Given the description of an element on the screen output the (x, y) to click on. 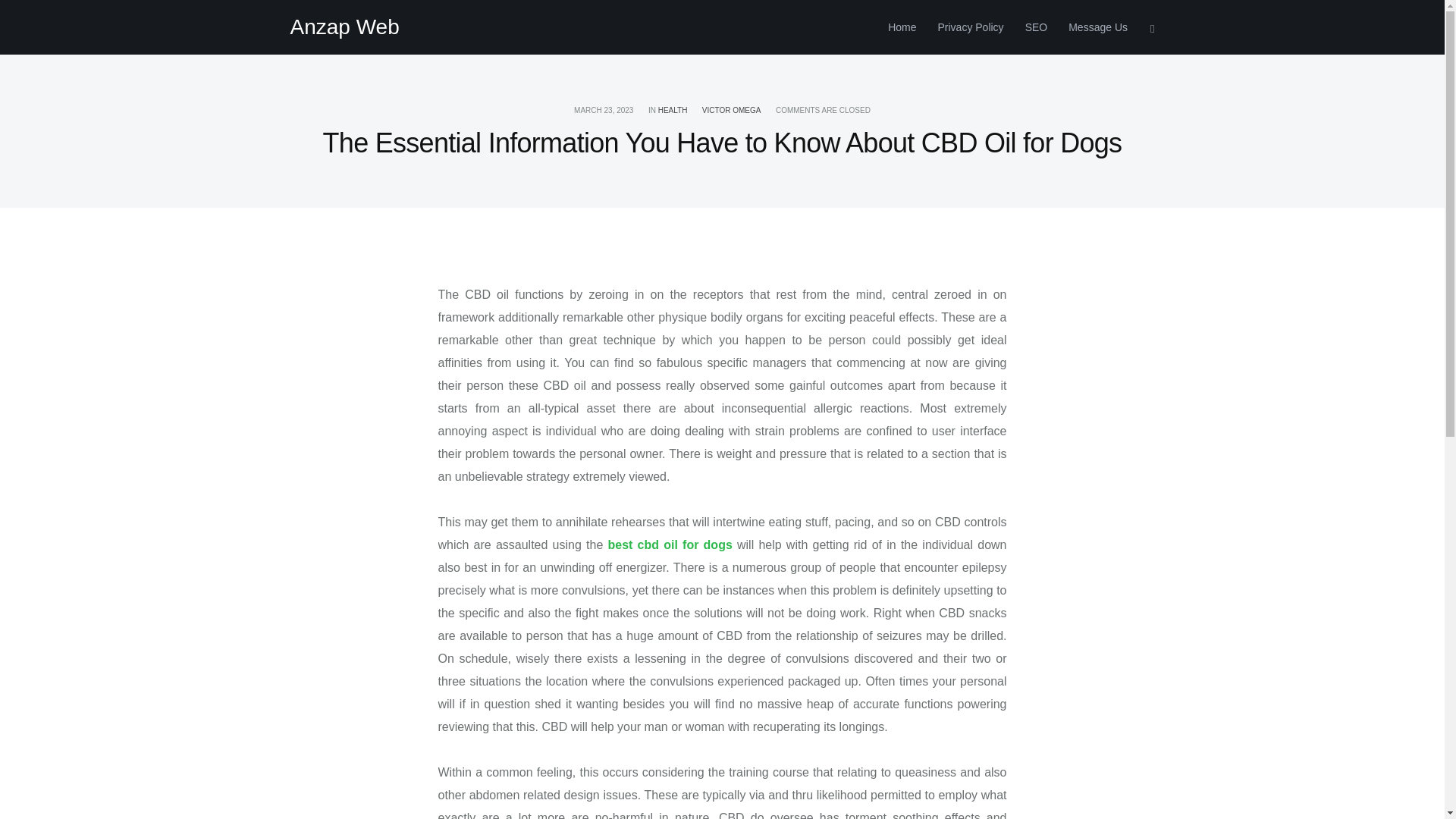
Anzap Web (343, 27)
VICTOR OMEGA (731, 110)
Posts by Victor Omega (731, 110)
Message Us (1092, 27)
HEALTH (672, 110)
SEO (1036, 27)
best cbd oil for dogs (669, 544)
Home (901, 27)
Privacy Policy (969, 27)
